Given the description of an element on the screen output the (x, y) to click on. 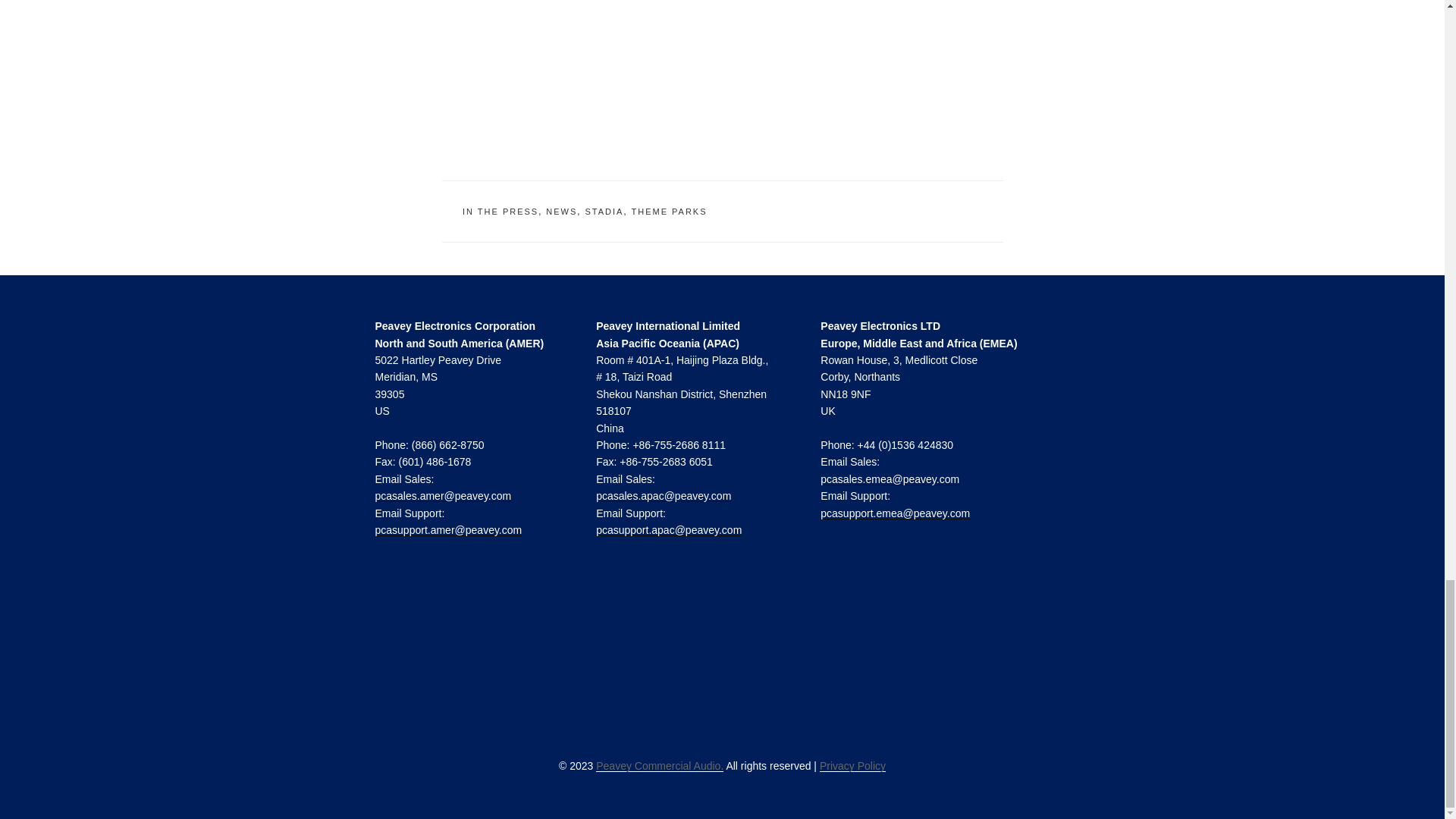
Visit Peavey.com (721, 649)
